Given the description of an element on the screen output the (x, y) to click on. 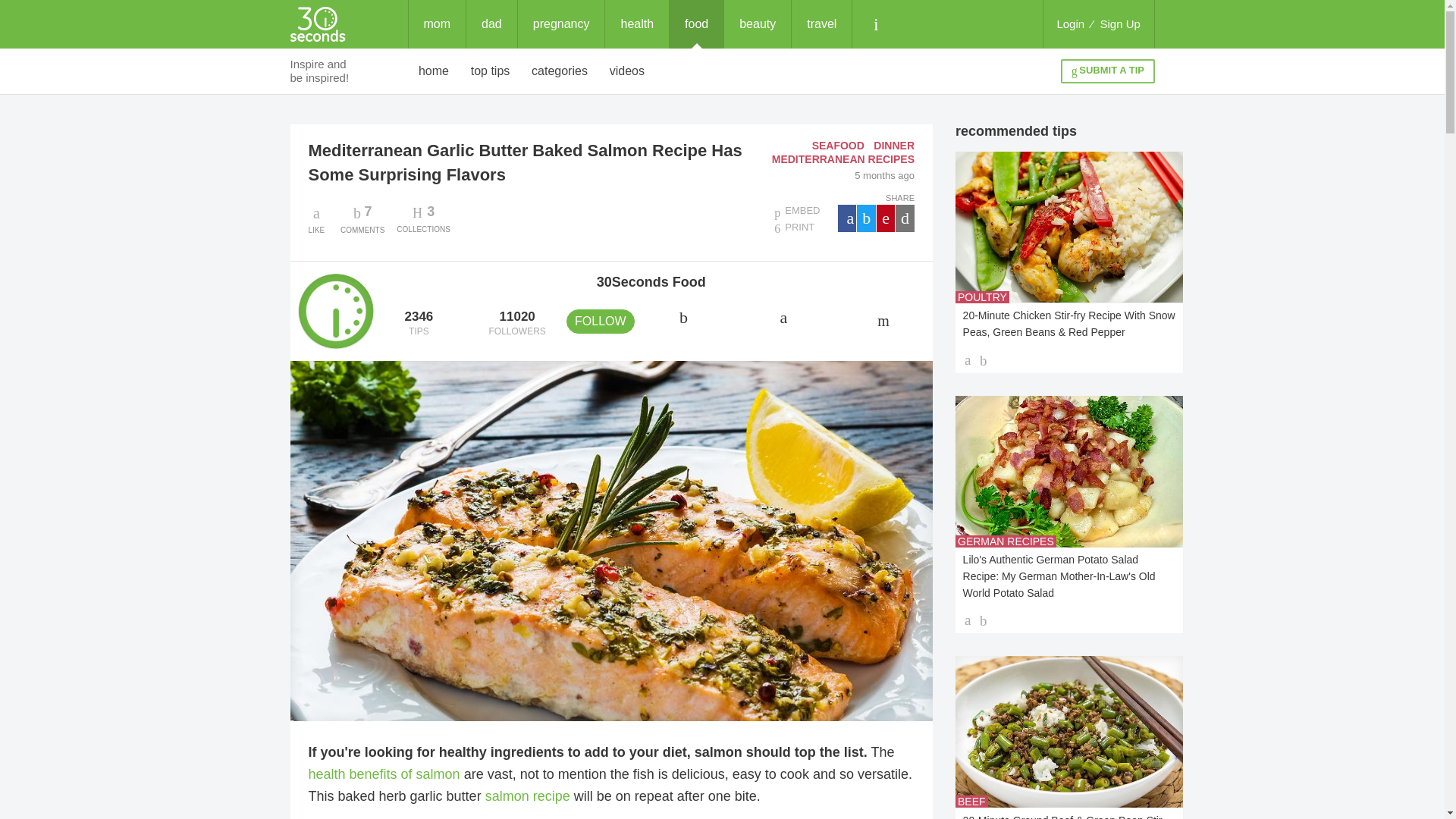
top tips (489, 71)
pregnancy (561, 24)
Login (1069, 23)
mom (436, 24)
home (433, 71)
Sign Up (1120, 23)
health (636, 24)
beauty (756, 24)
food (696, 24)
travel (821, 24)
categories (559, 71)
dad (490, 24)
